Given the description of an element on the screen output the (x, y) to click on. 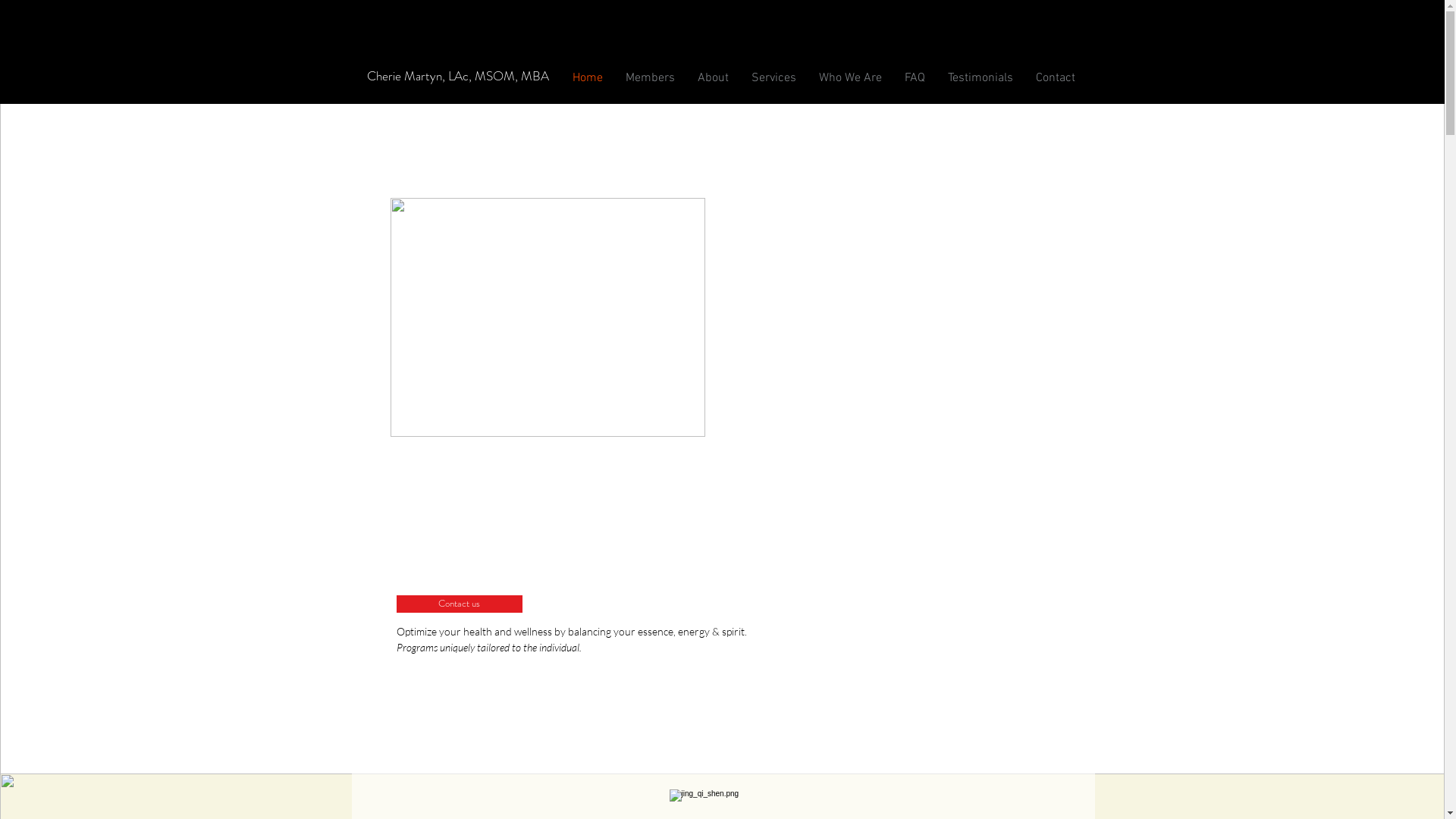
Members Element type: text (650, 78)
Testimonials Element type: text (979, 78)
Cherie Martyn, LAc, MSOM, MBA Element type: text (457, 76)
FAQ Element type: text (914, 78)
Contact Element type: text (1054, 78)
Who We Are Element type: text (849, 78)
Services Element type: text (773, 78)
Home Element type: text (587, 78)
Contact us Element type: text (458, 603)
About Element type: text (712, 78)
